Given the description of an element on the screen output the (x, y) to click on. 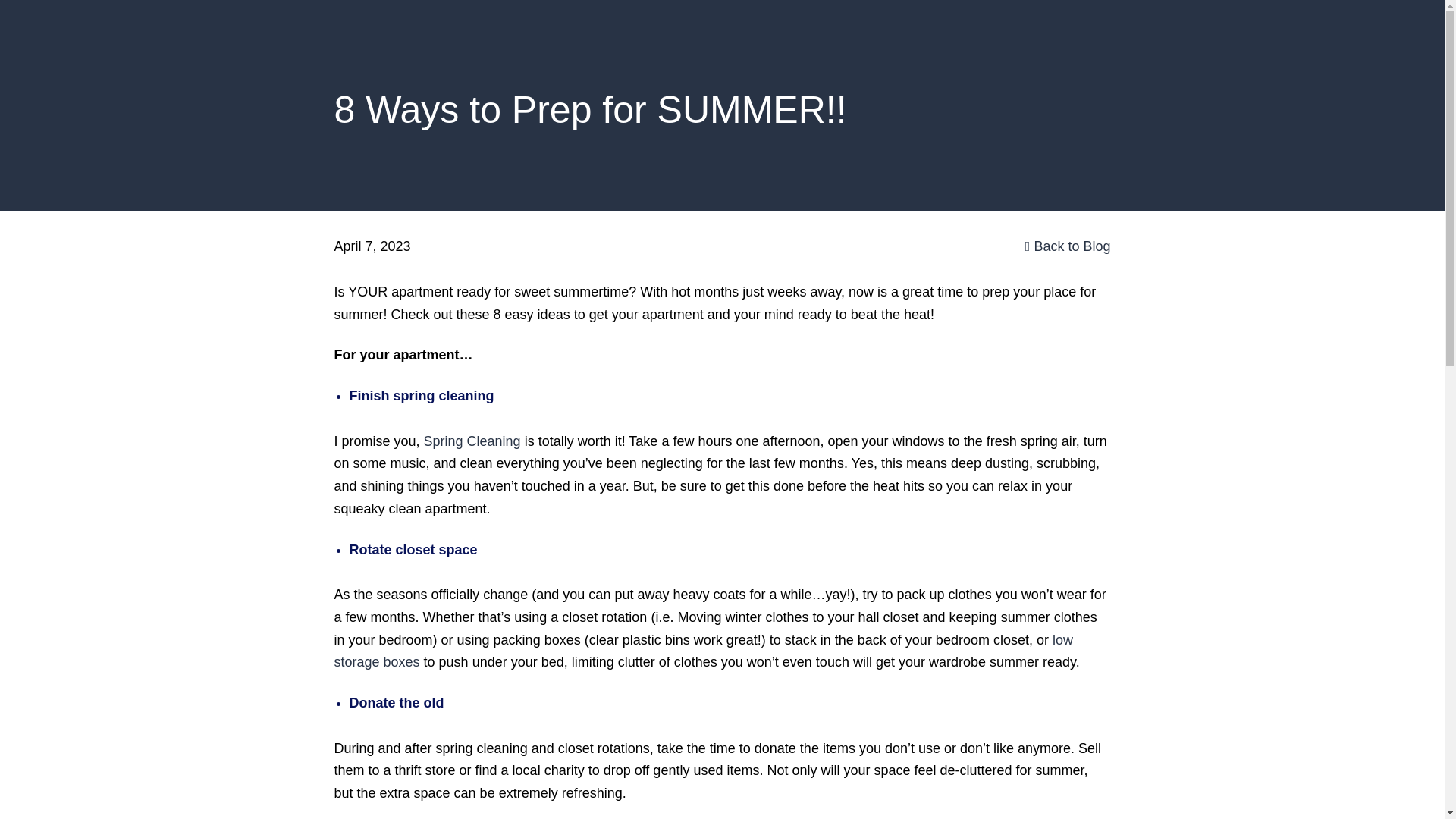
Back to Blog (1067, 246)
Spring Cleaning (472, 441)
low storage boxes (702, 651)
